Given the description of an element on the screen output the (x, y) to click on. 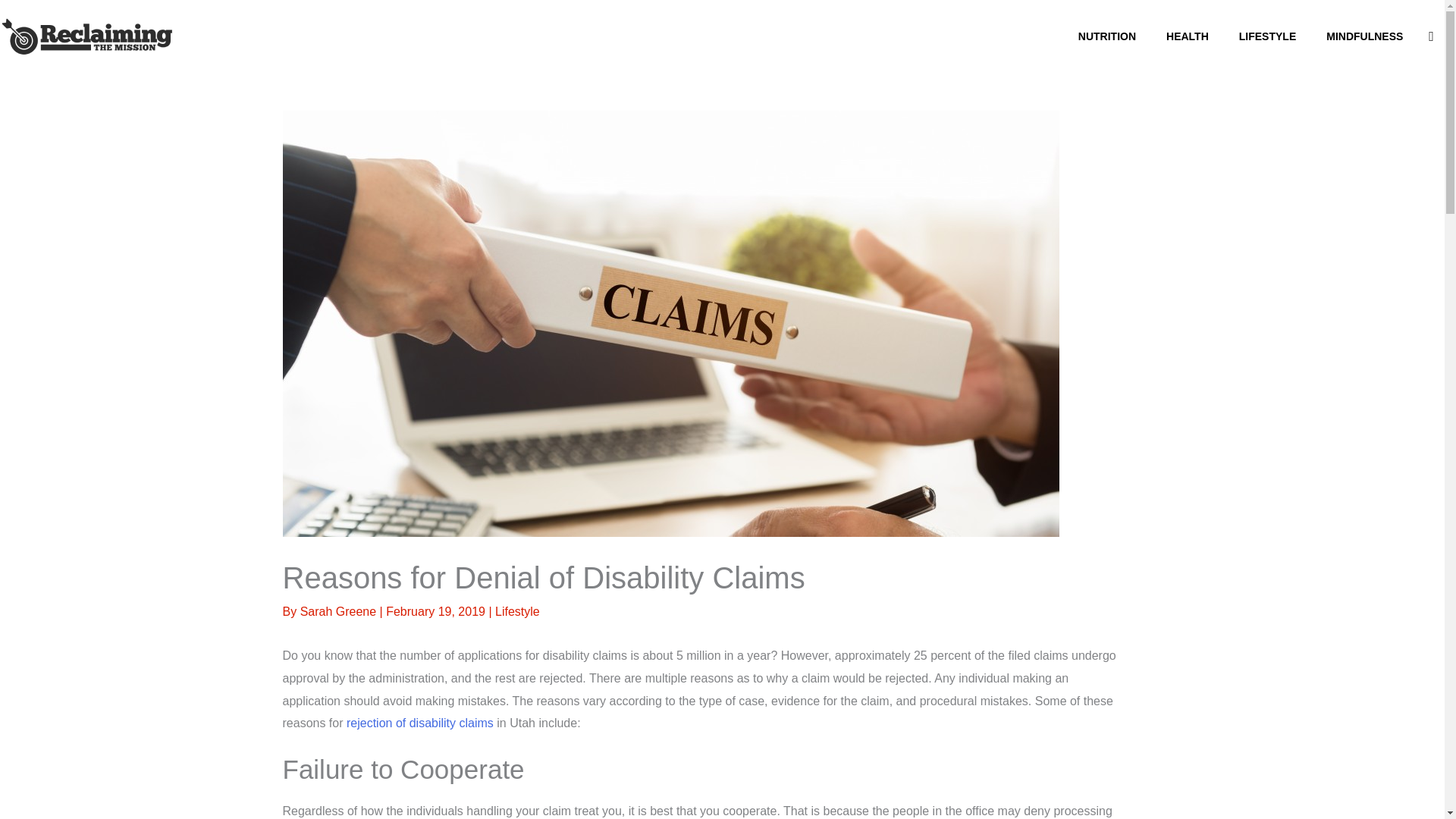
View all posts by Sarah Greene (339, 611)
NUTRITION (1106, 36)
Lifestyle (517, 611)
LIFESTYLE (1267, 36)
Sarah Greene (339, 611)
HEALTH (1187, 36)
Utah Disability Application (419, 722)
MINDFULNESS (1364, 36)
rejection of disability claims (419, 722)
